Given the description of an element on the screen output the (x, y) to click on. 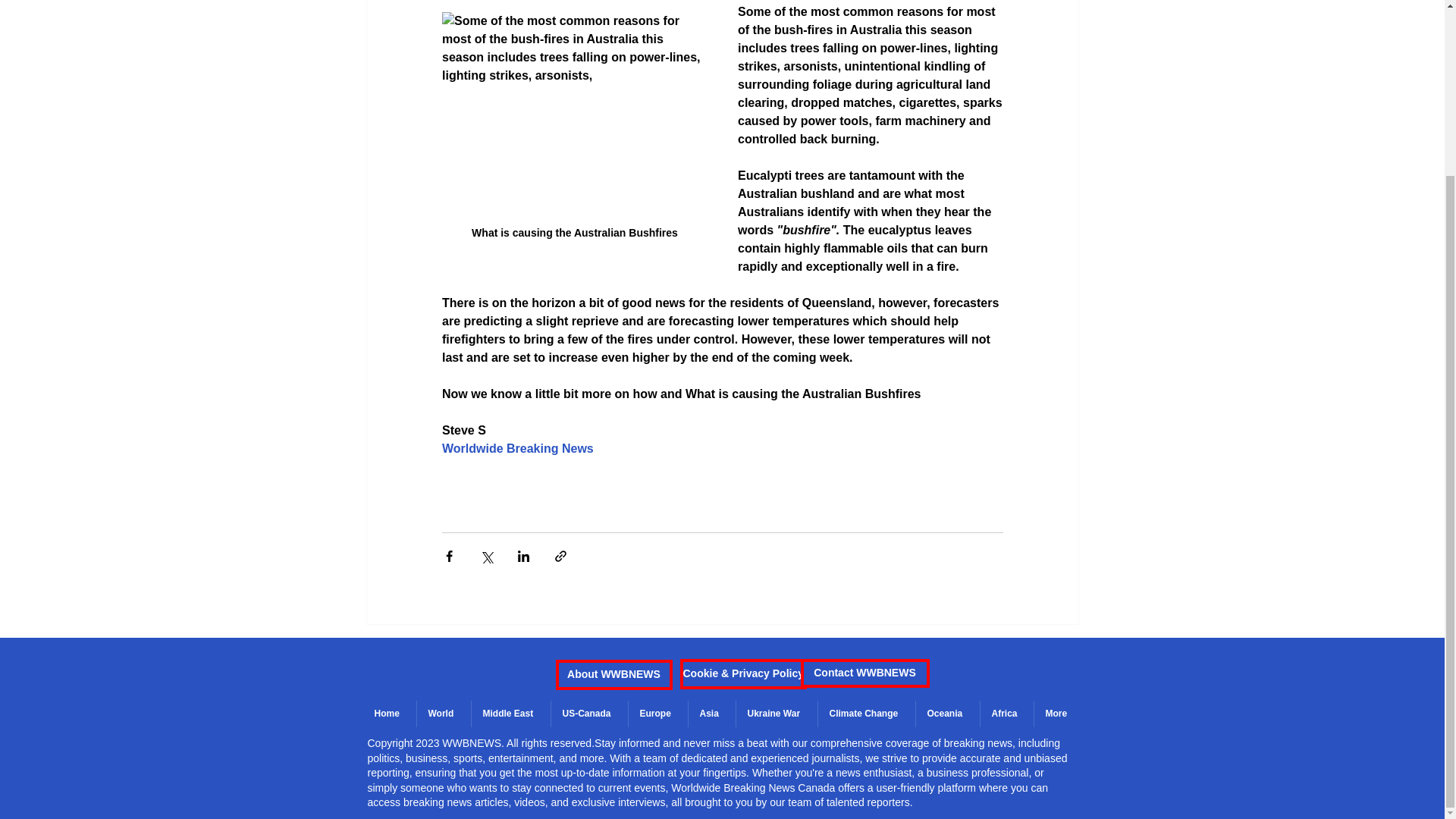
Asia (711, 714)
Worldwide Breaking News (516, 448)
Contact WWBNEWS (865, 673)
Back to Top (49, 517)
World (442, 714)
Middle East (510, 714)
About WWBNEWS (612, 675)
US-Canada (588, 714)
Climate Change (865, 714)
Home (388, 714)
